Given the description of an element on the screen output the (x, y) to click on. 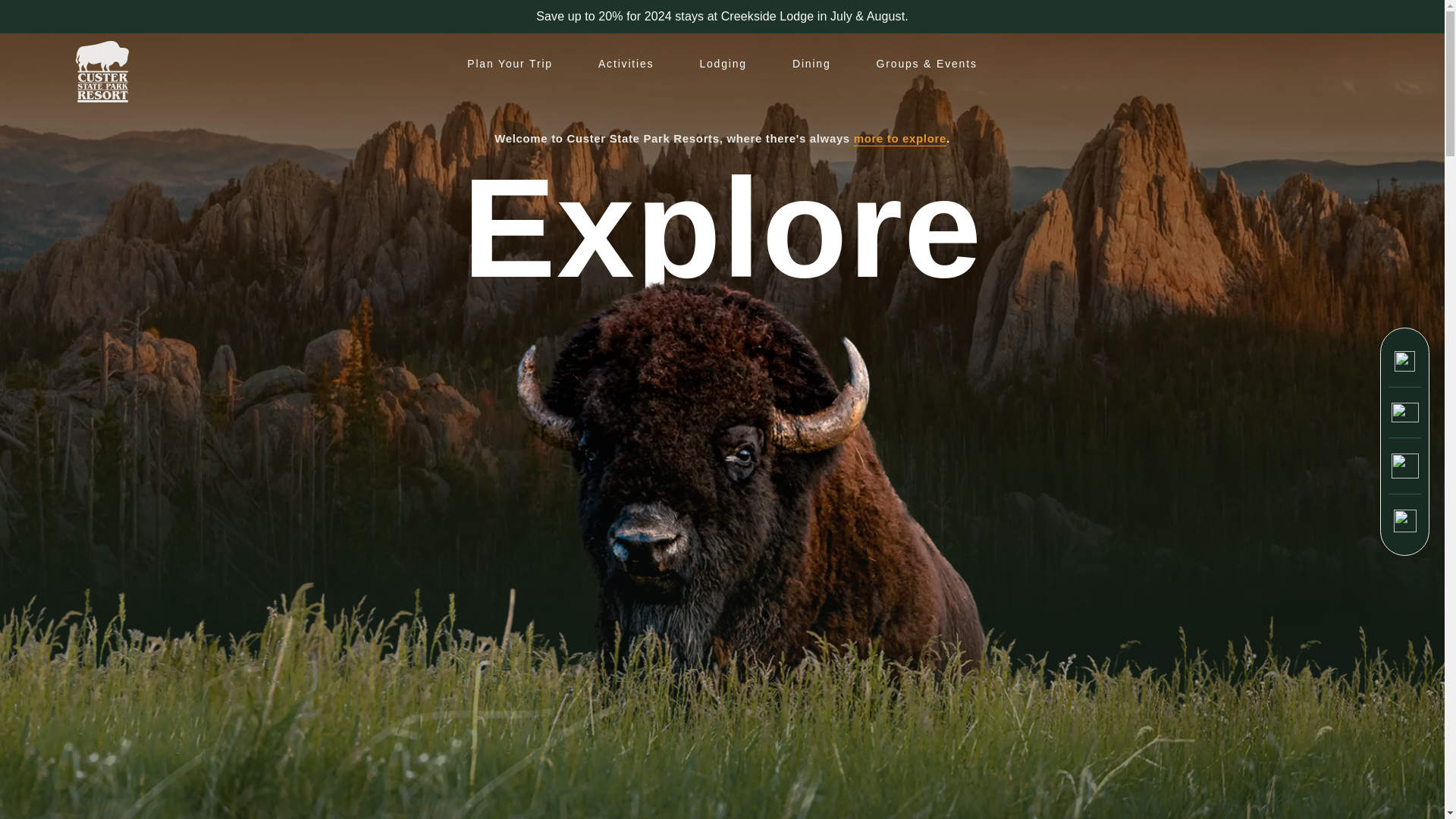
Activities (626, 64)
Dining (811, 64)
Plan Your Trip (509, 64)
Lodging (723, 64)
